Given the description of an element on the screen output the (x, y) to click on. 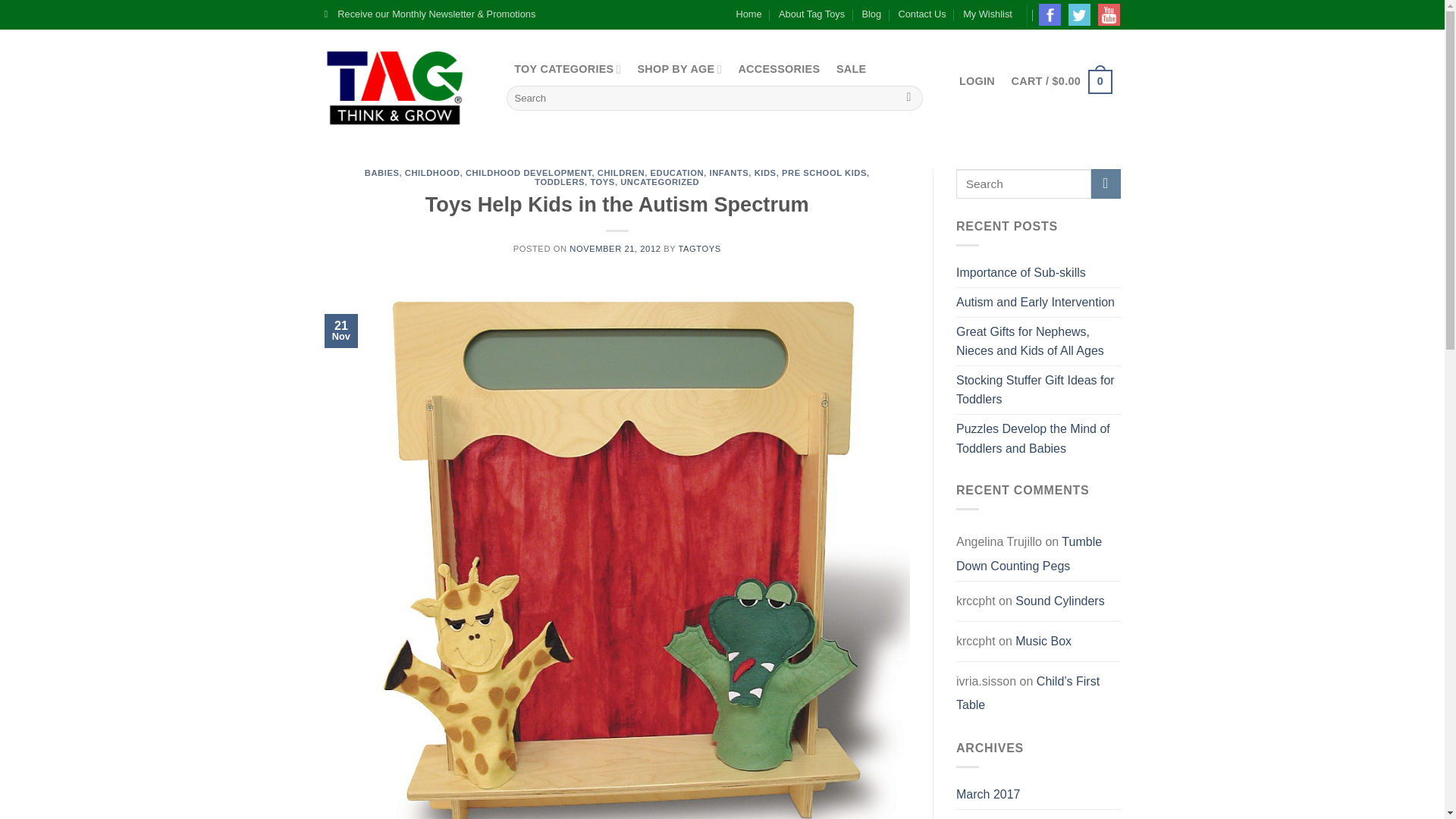
SHOP BY AGE (679, 68)
TOY CATEGORIES (567, 68)
Contact Us (921, 14)
LOGIN (976, 81)
Cart (1062, 81)
Search (908, 98)
About Tag Toys (811, 14)
Home (748, 14)
SALE (851, 68)
My Wishlist (986, 14)
ACCESSORIES (779, 68)
